Given the description of an element on the screen output the (x, y) to click on. 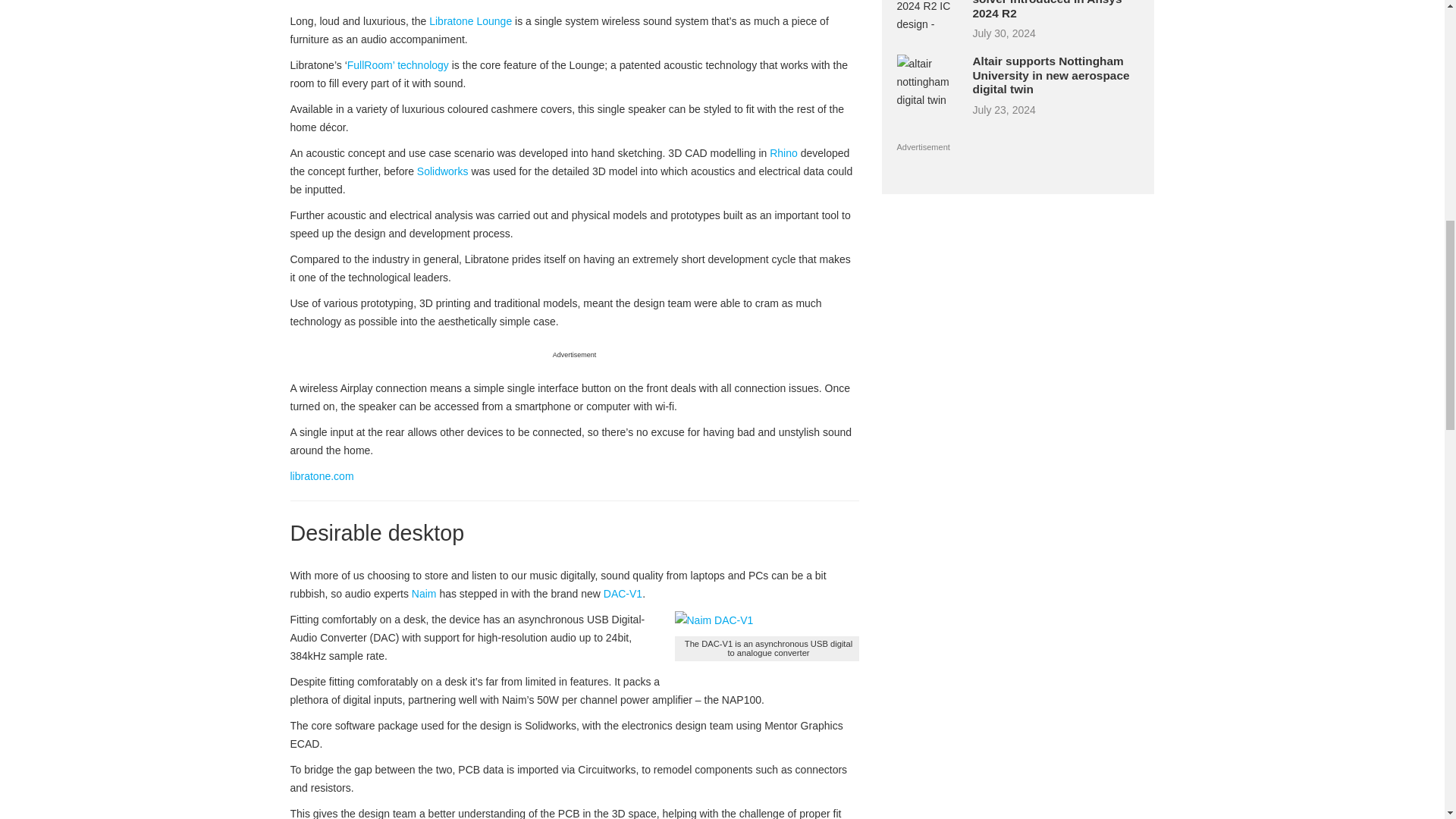
Rhino (783, 152)
Libratone Lounge (470, 21)
